Given the description of an element on the screen output the (x, y) to click on. 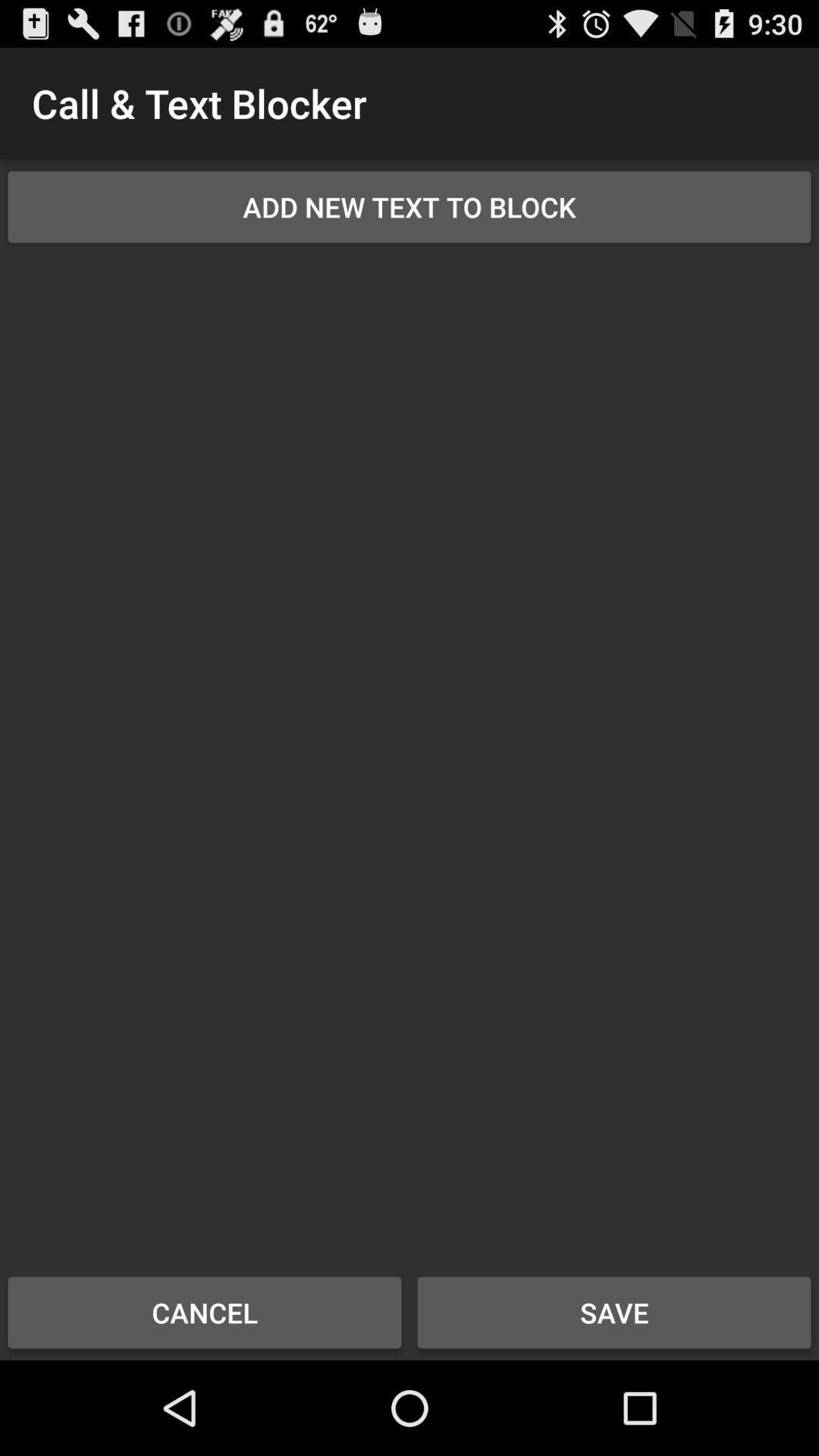
flip to the add new text item (409, 206)
